Given the description of an element on the screen output the (x, y) to click on. 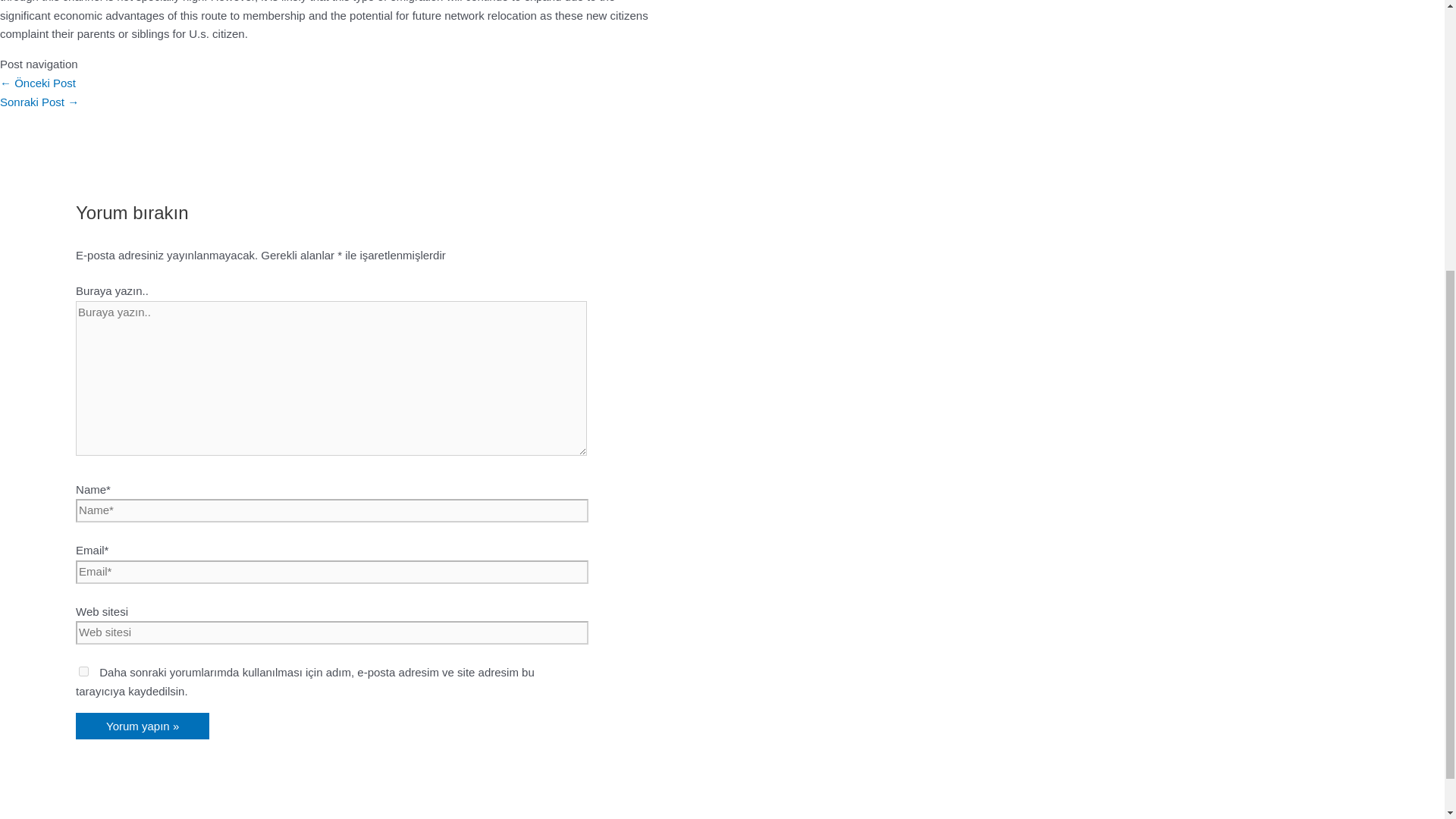
Do Mail Order Brides ActuallyExist? (39, 101)
Oriental Relationship Stereotypes (37, 82)
yes (83, 671)
